Given the description of an element on the screen output the (x, y) to click on. 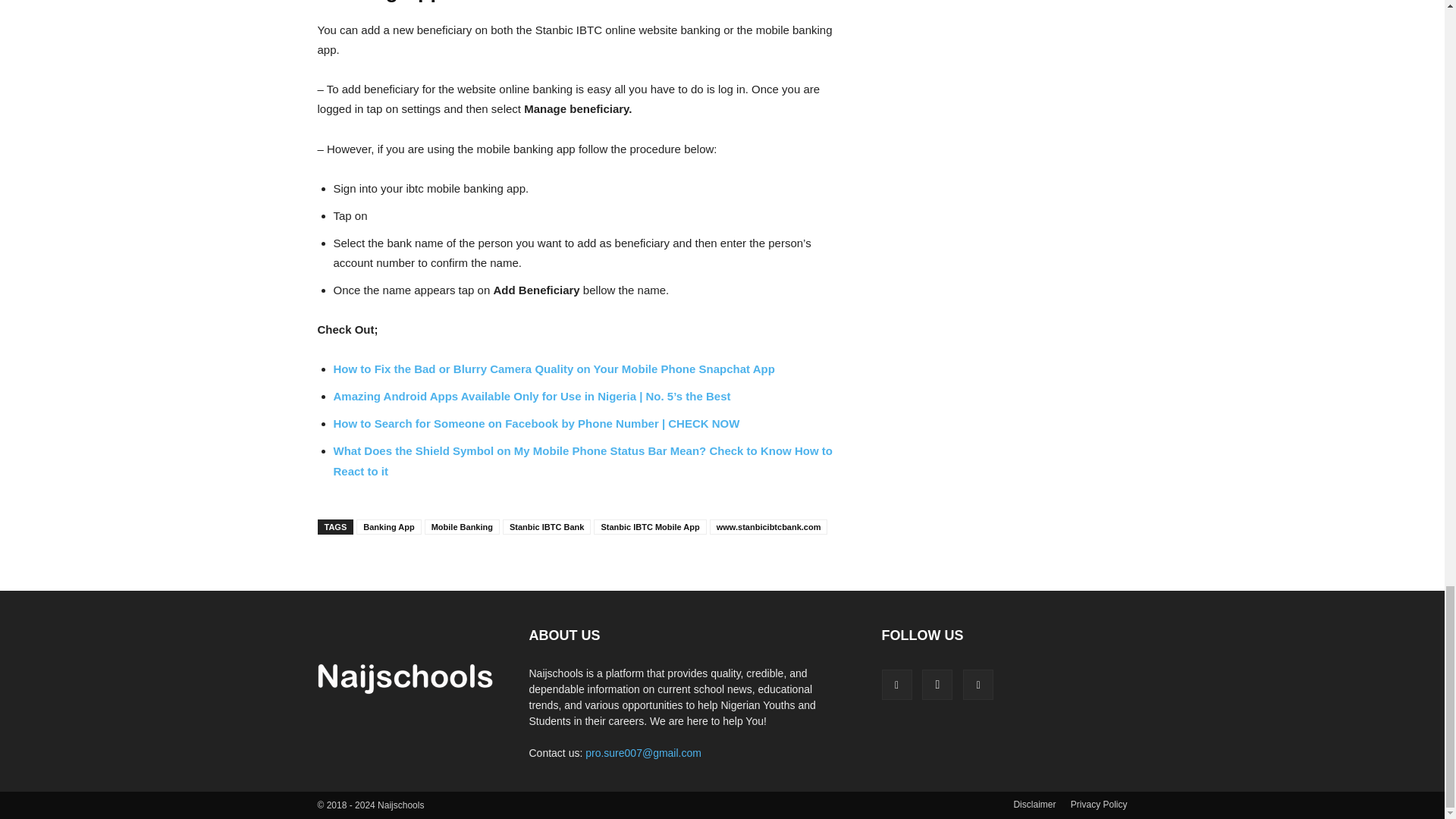
Twitter (977, 684)
Facebook (895, 684)
Instagram (936, 684)
